Given the description of an element on the screen output the (x, y) to click on. 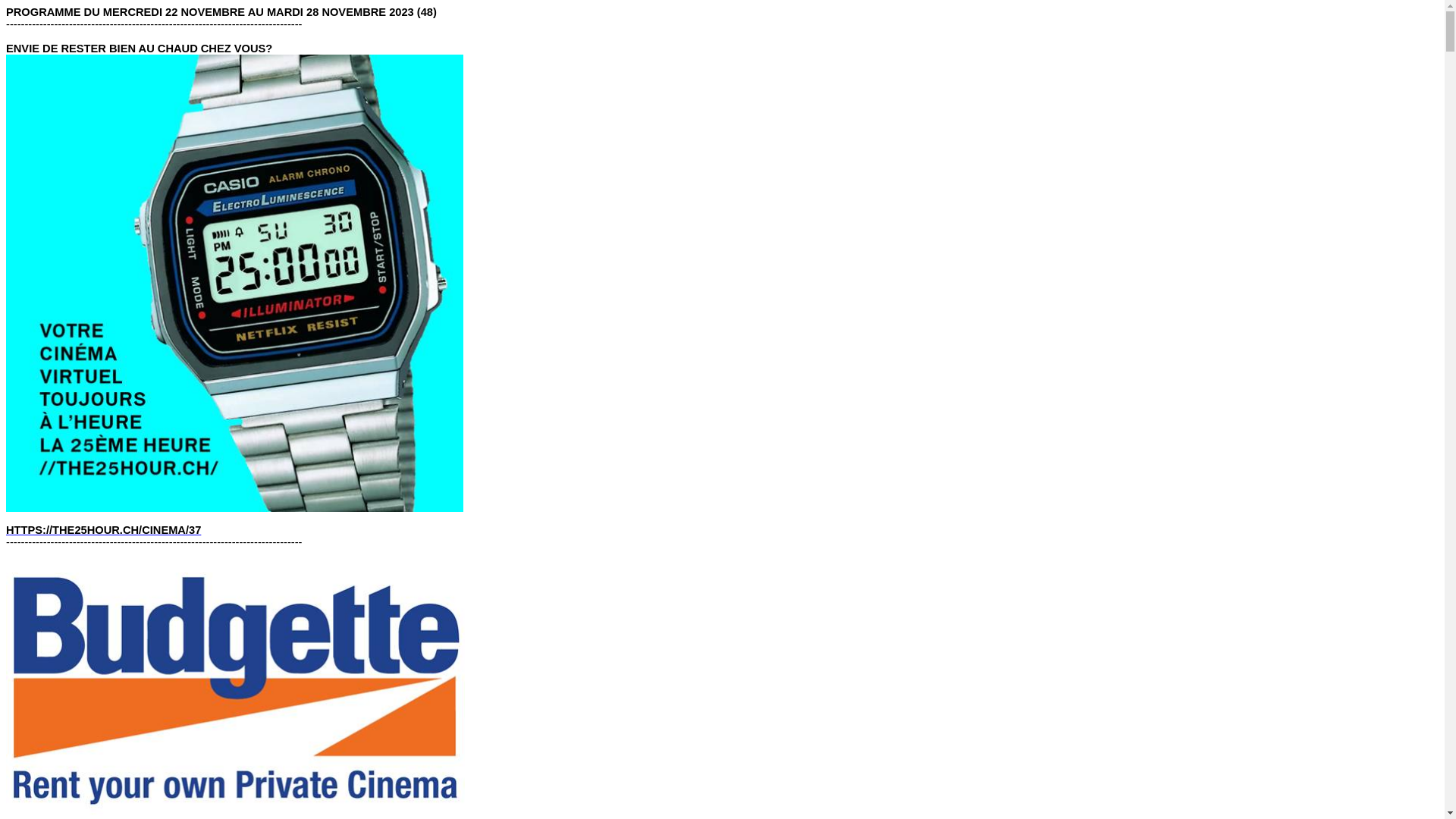
HTTPS://THE25HOUR.CH/CINEMA/37 Element type: text (103, 530)
